Given the description of an element on the screen output the (x, y) to click on. 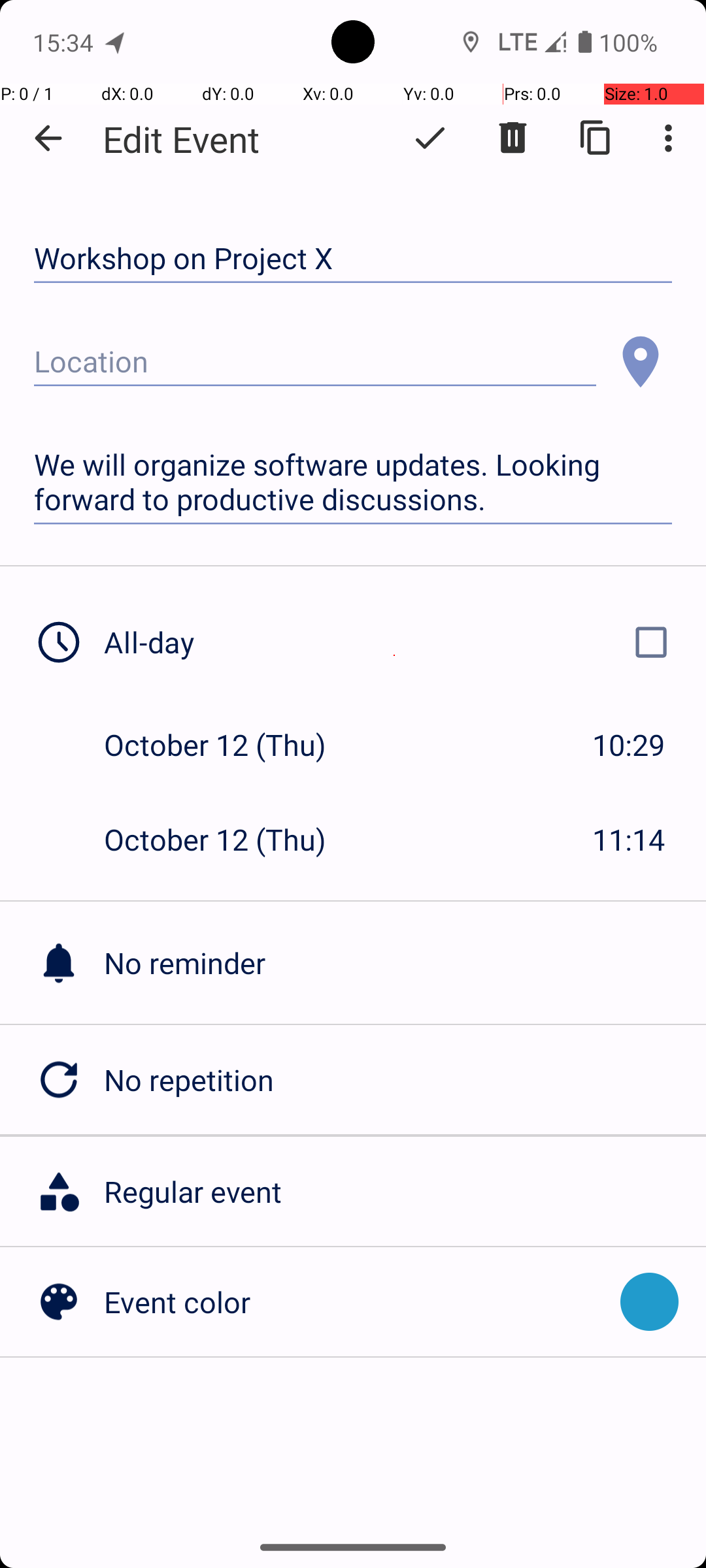
We will organize software updates. Looking forward to productive discussions. Element type: android.widget.EditText (352, 482)
October 12 (Thu) Element type: android.widget.TextView (228, 744)
10:29 Element type: android.widget.TextView (628, 744)
11:14 Element type: android.widget.TextView (628, 838)
